Given the description of an element on the screen output the (x, y) to click on. 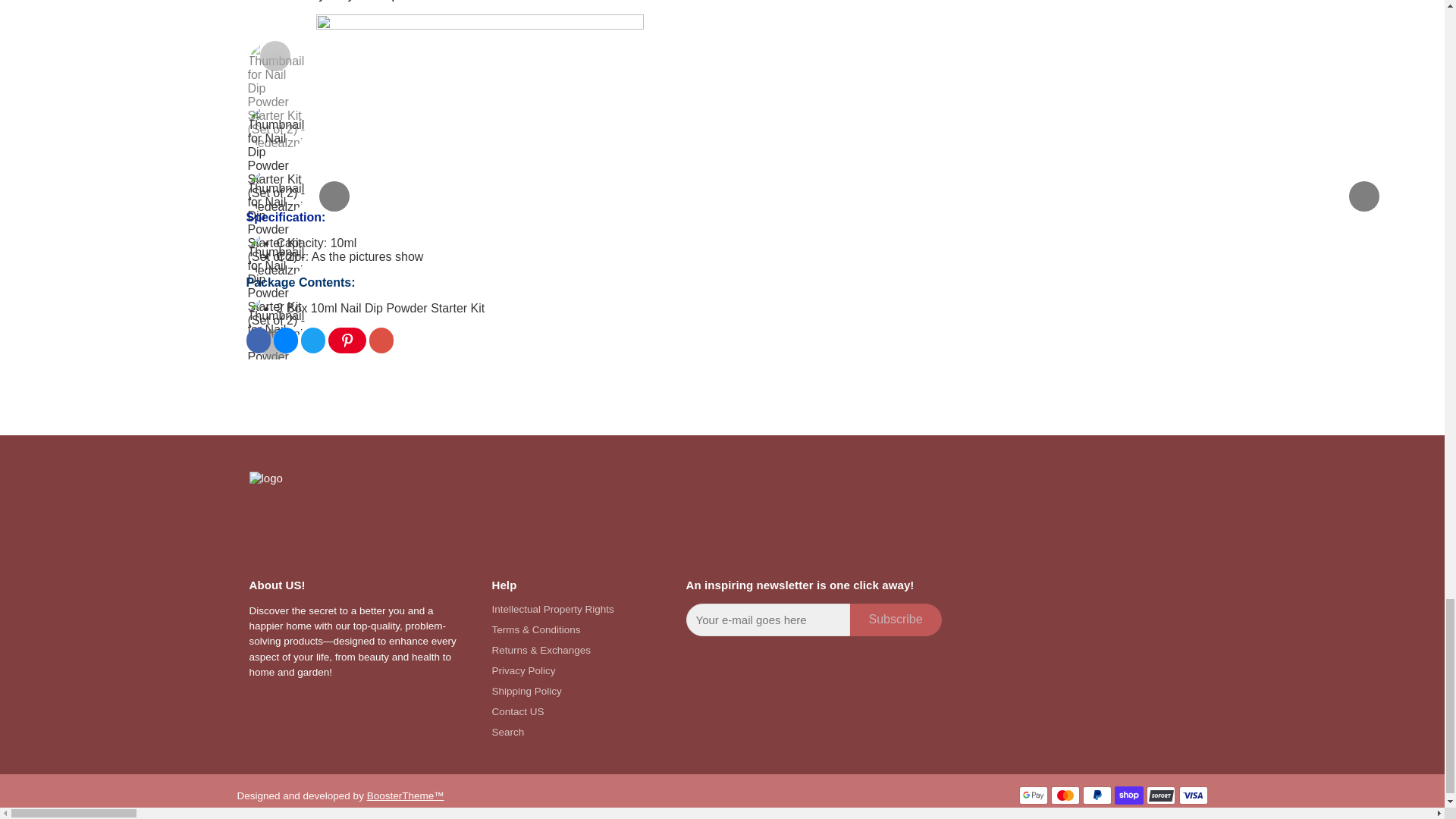
SOFORT (1160, 795)
Visa (1192, 795)
Shop Pay (1128, 795)
Google Pay (1033, 795)
Mastercard (1065, 795)
PayPal (1097, 795)
